Given the description of an element on the screen output the (x, y) to click on. 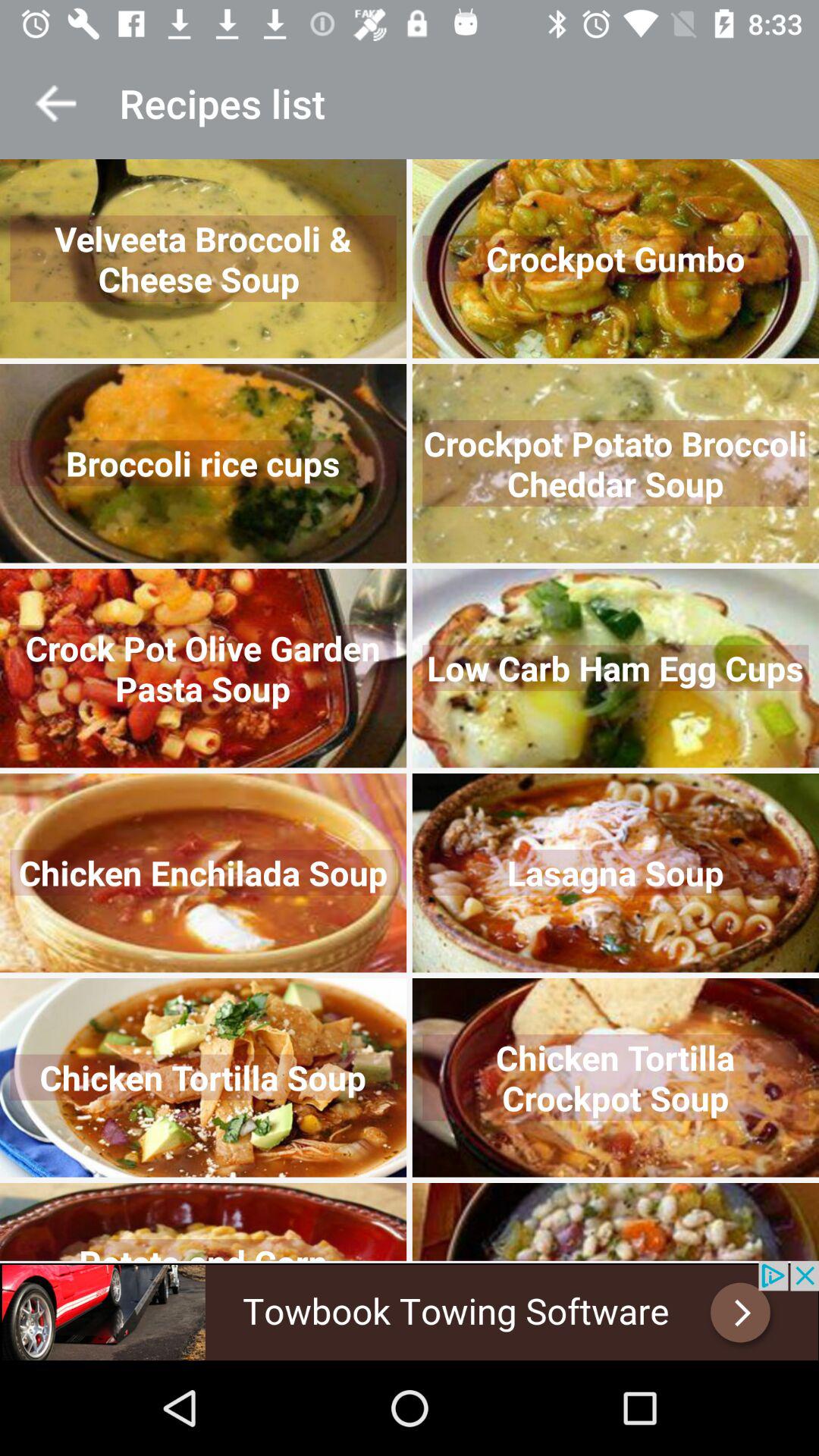
open advertisement (409, 1310)
